Given the description of an element on the screen output the (x, y) to click on. 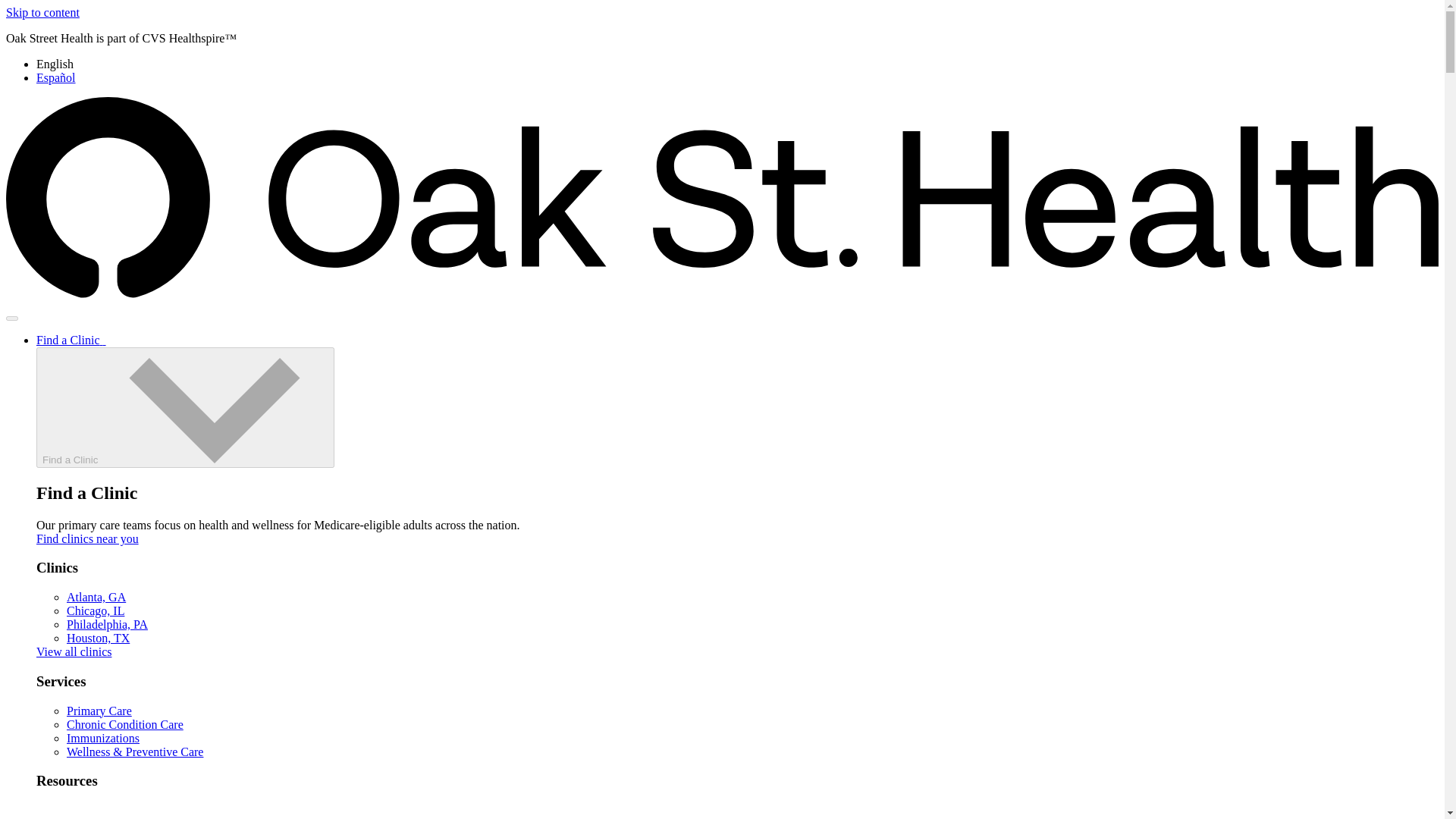
Houston, TX (97, 637)
Find clinics near you (87, 538)
View all clinics (74, 651)
Chicago, IL (94, 610)
Chronic Condition Care (124, 724)
Find a Clinic   (71, 339)
Primary Care (99, 710)
Immunizations (102, 738)
Philadelphia, PA (107, 624)
Skip to content (42, 11)
Atlanta, GA (95, 596)
Find a Clinic (185, 407)
